Given the description of an element on the screen output the (x, y) to click on. 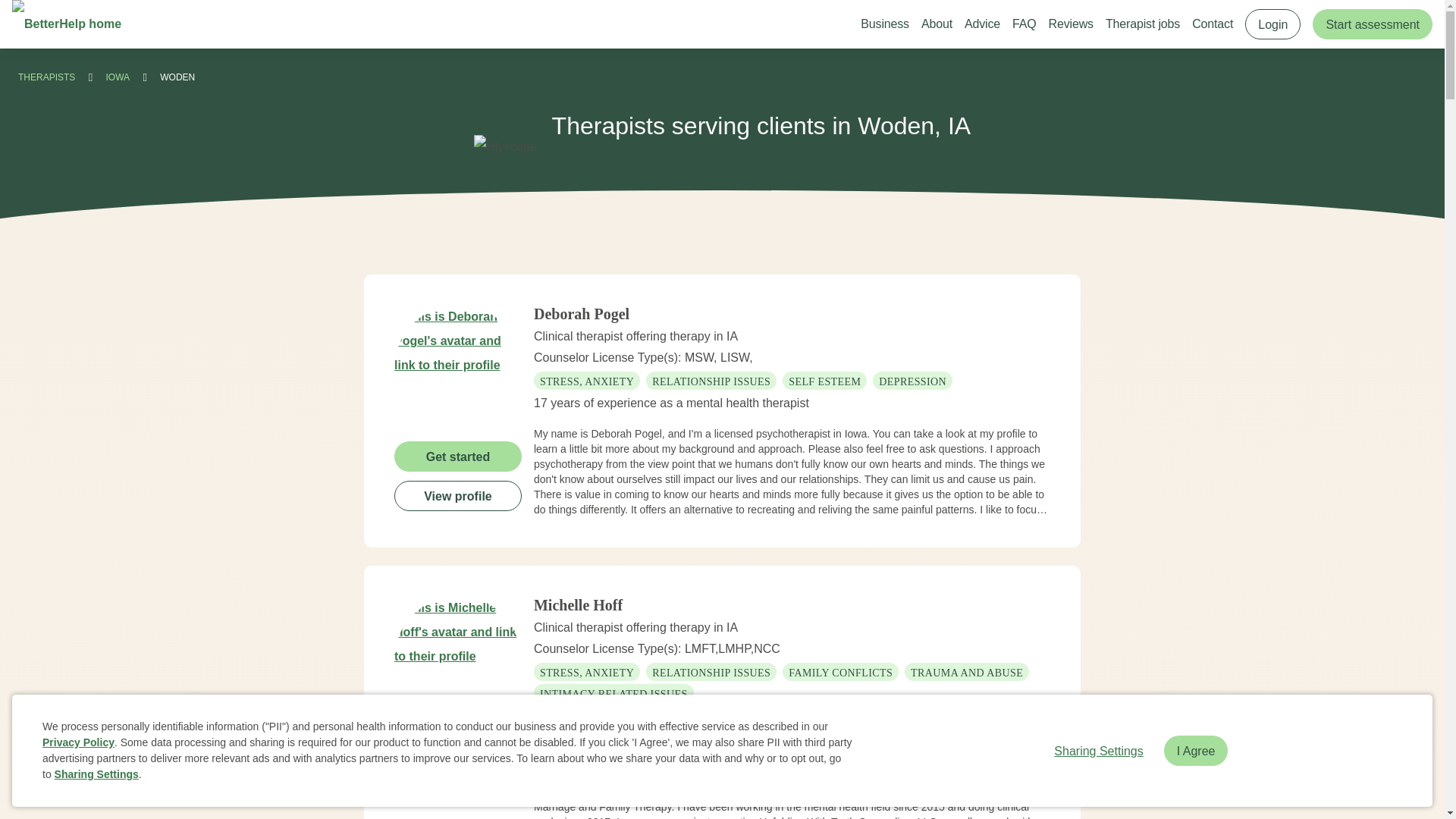
I Agree (1195, 750)
Privacy Policy (78, 742)
View profile (457, 787)
Sharing Settings (96, 774)
THERAPISTS (46, 77)
Click here to view Michelle Hoff's profile 1 (457, 659)
Therapist jobs (1142, 24)
